Given the description of an element on the screen output the (x, y) to click on. 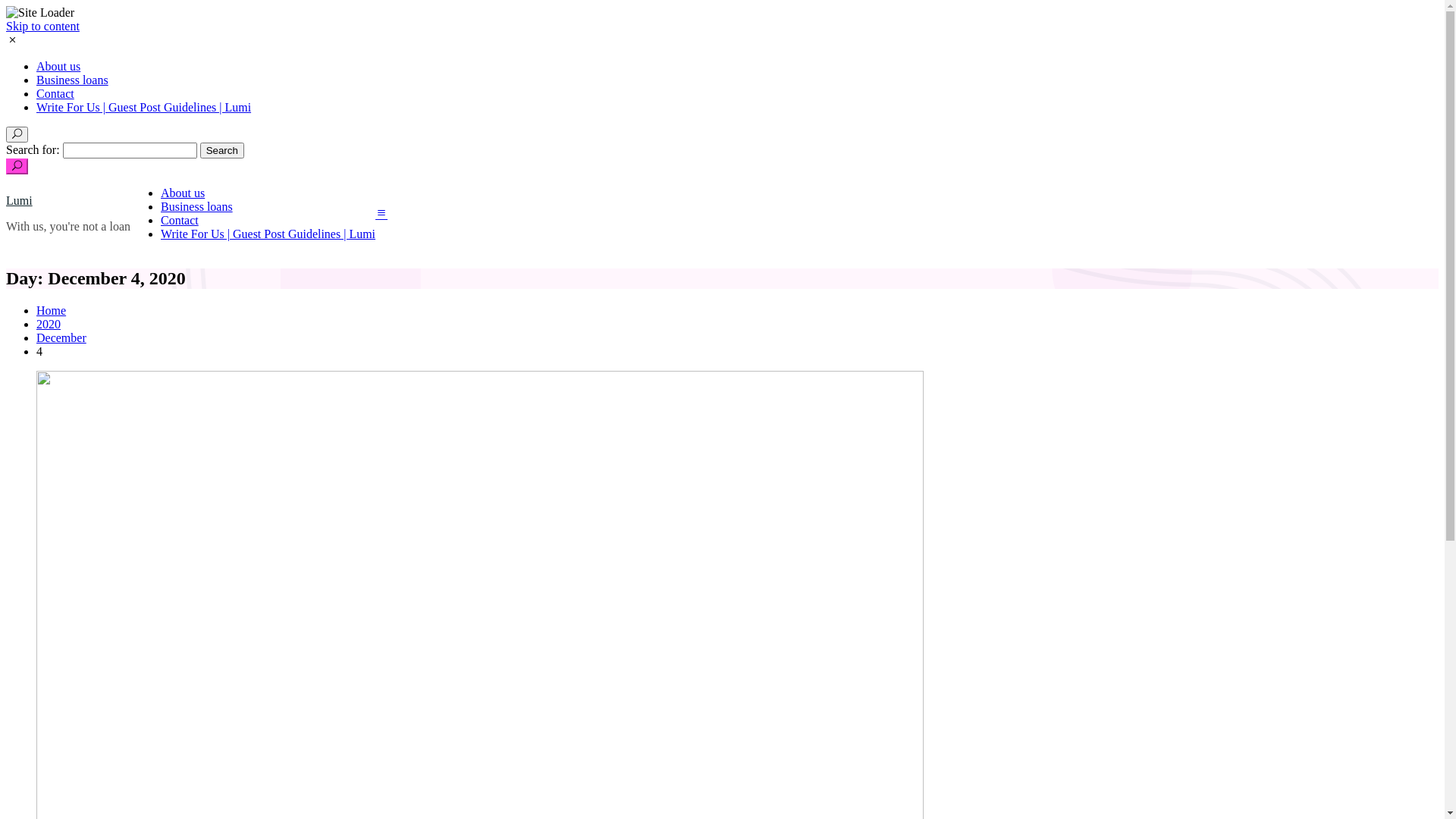
Contact Element type: text (179, 219)
Write For Us | Guest Post Guidelines | Lumi Element type: text (143, 106)
Search Element type: text (222, 150)
Write For Us | Guest Post Guidelines | Lumi Element type: text (267, 233)
Home Element type: text (50, 310)
December Element type: text (61, 337)
Skip to content Element type: text (42, 25)
About us Element type: text (58, 65)
Business loans Element type: text (72, 79)
2020 Element type: text (48, 323)
Lumi Element type: text (19, 200)
Business loans Element type: text (196, 206)
About us Element type: text (182, 192)
Contact Element type: text (55, 93)
